Given the description of an element on the screen output the (x, y) to click on. 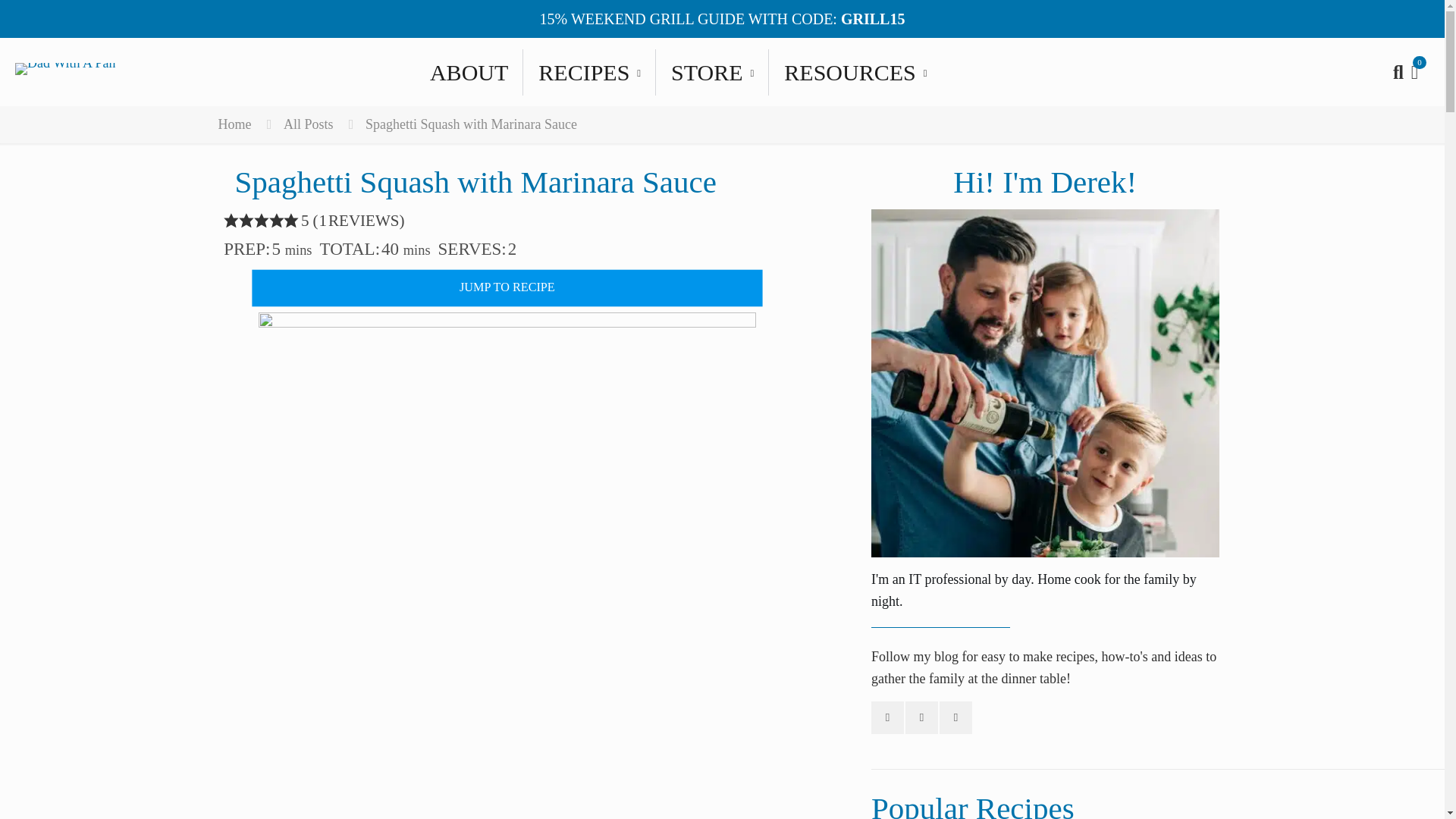
RESOURCES (855, 71)
STORE (712, 71)
ABOUT (468, 71)
RECIPES (722, 71)
